Given the description of an element on the screen output the (x, y) to click on. 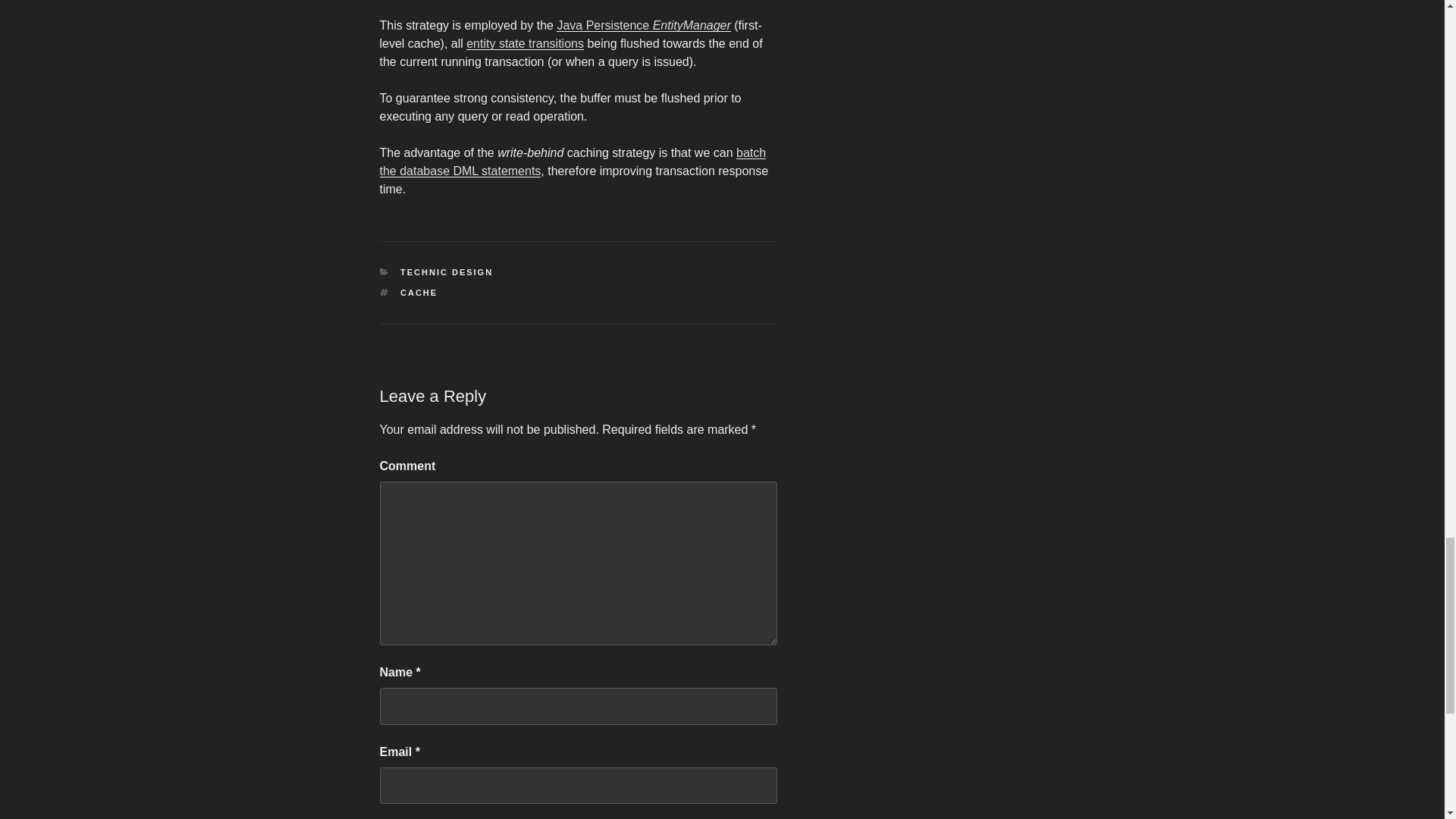
batch the database DML statements (571, 161)
EntityManager (691, 24)
CACHE (419, 292)
TECHNIC DESIGN (446, 271)
entity state transitions (524, 42)
Java Persistence (604, 24)
